Given the description of an element on the screen output the (x, y) to click on. 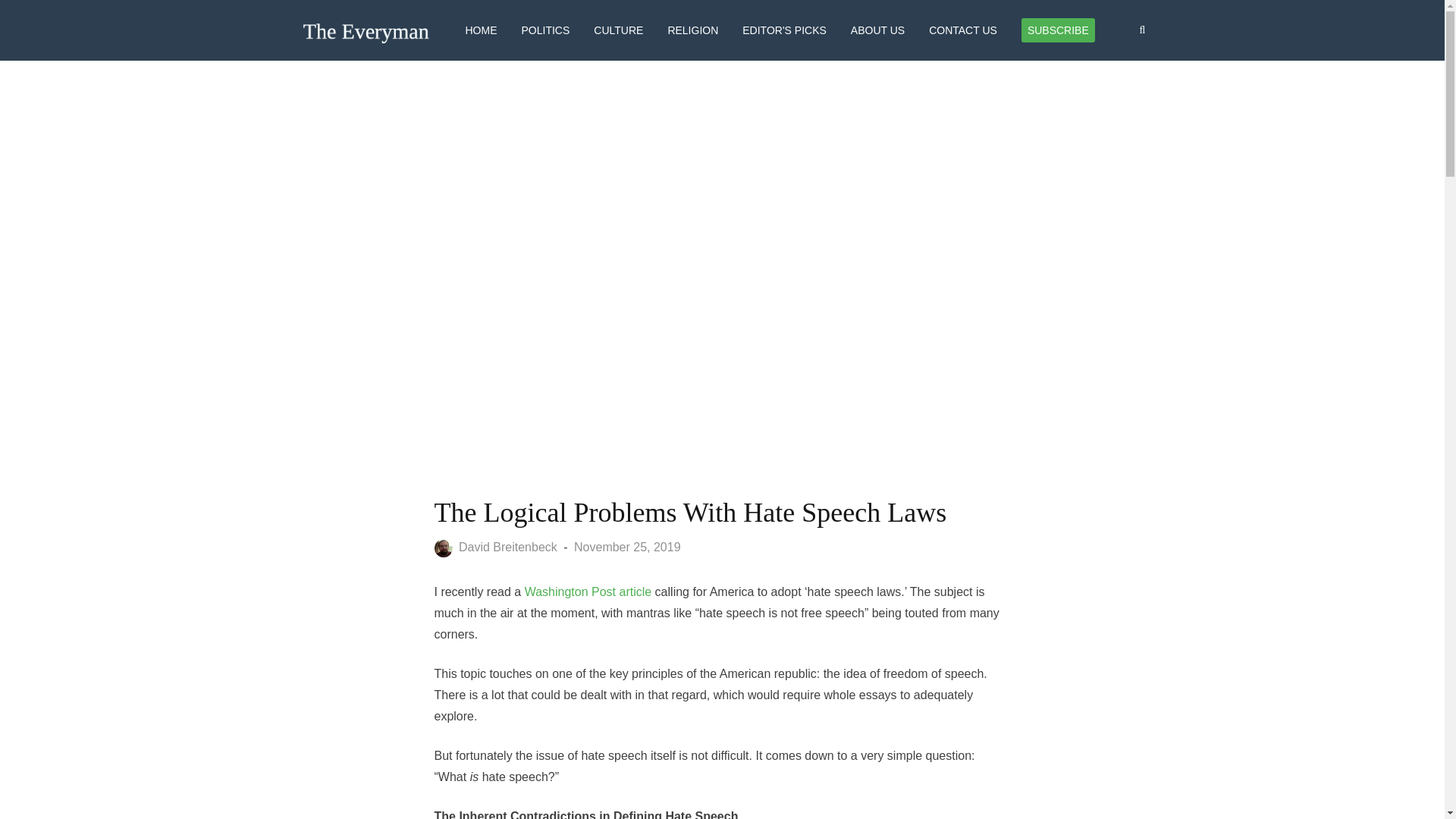
RELIGION (691, 30)
POLITICS (545, 30)
SUBSCRIBE (1058, 30)
EDITOR'S PICKS (784, 30)
Washington Post article (585, 591)
HOME (481, 30)
David Breitenbeck (498, 546)
CULTURE (618, 30)
ABOUT US (877, 30)
CONTACT US (962, 30)
